Given the description of an element on the screen output the (x, y) to click on. 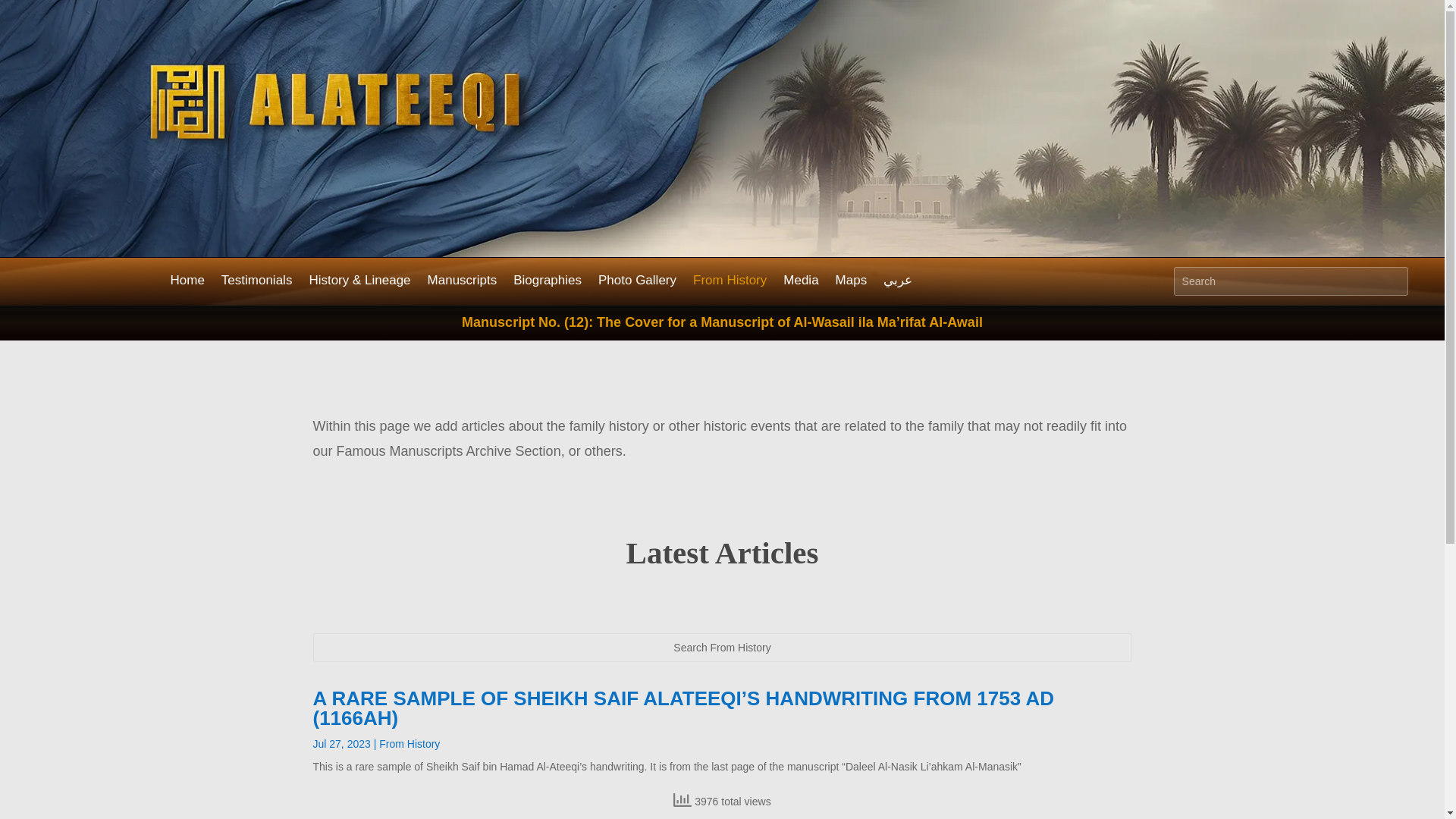
Photo Gallery (637, 283)
Manuscripts (462, 283)
Maps (851, 283)
Biographies (546, 283)
From History (730, 283)
Search (24, 13)
Home (186, 283)
Testimonials (256, 283)
Media (800, 283)
